Given the description of an element on the screen output the (x, y) to click on. 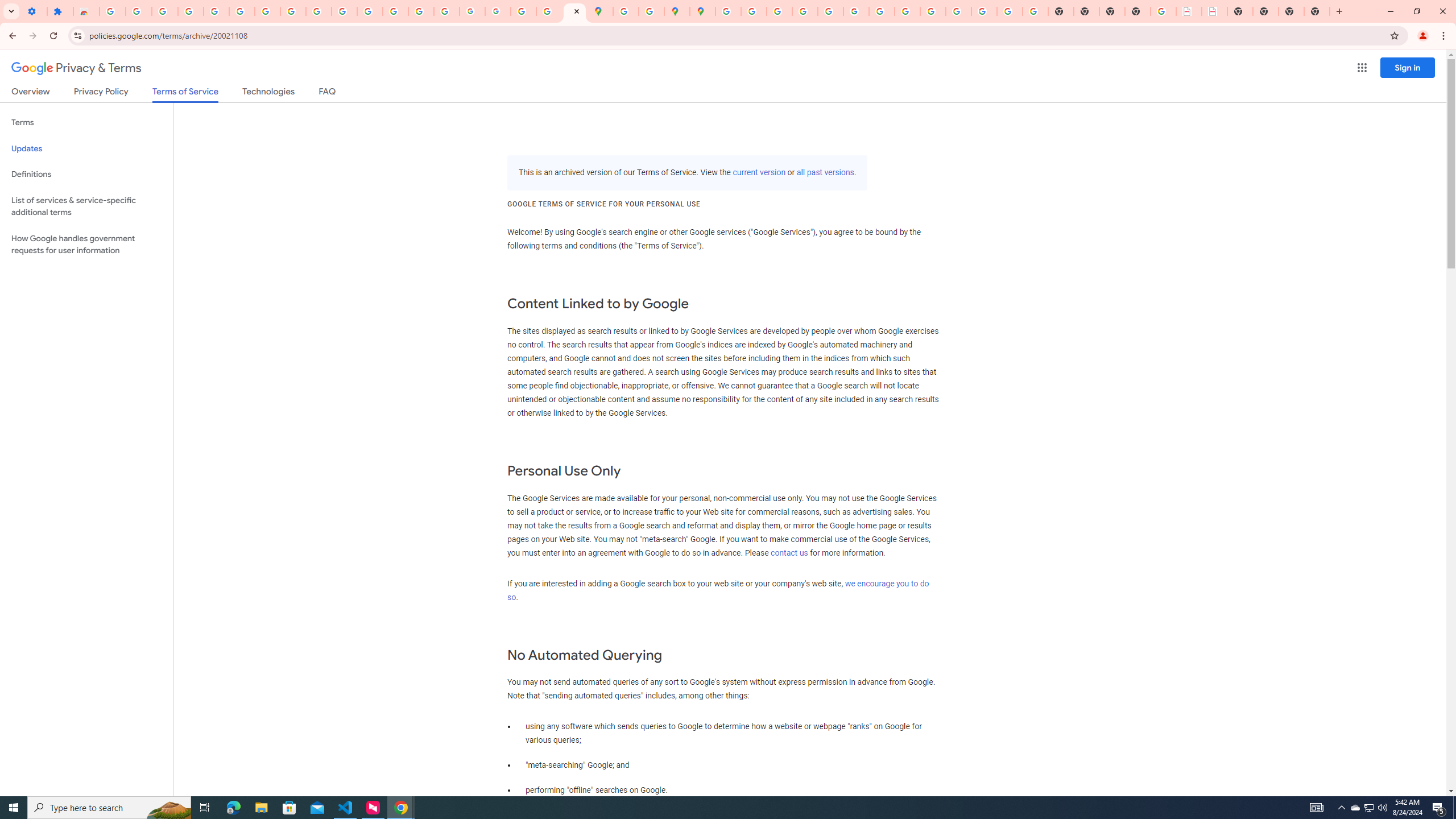
Extensions (60, 11)
New Tab (1137, 11)
Learn how to find your photos - Google Photos Help (190, 11)
